Given the description of an element on the screen output the (x, y) to click on. 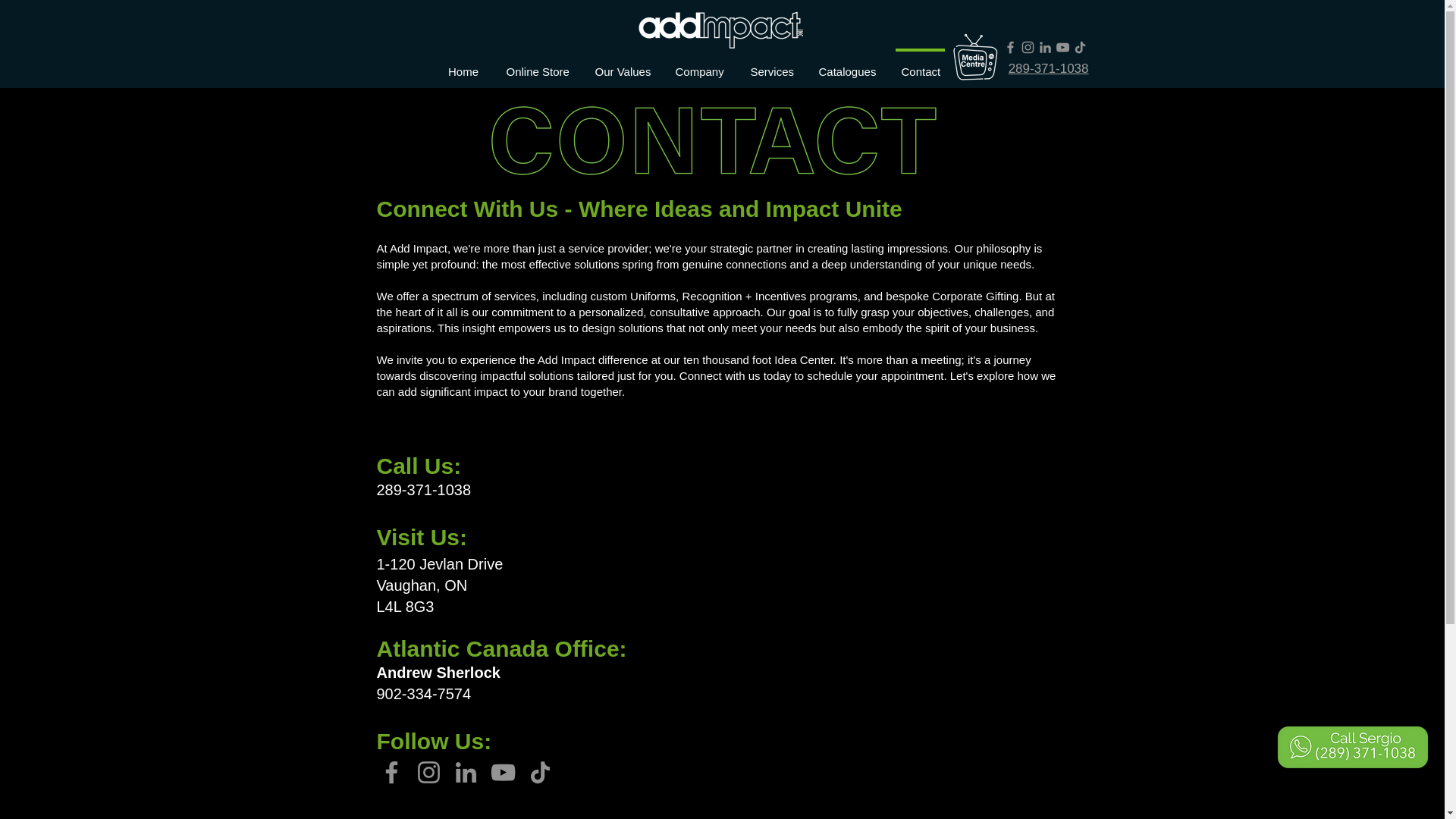
Our Values (620, 64)
289-371-1038 (1049, 68)
Call button 3.png (1352, 747)
Contact (919, 64)
Catalogues (846, 64)
Home (462, 64)
Services (770, 64)
Company (698, 64)
Online Store (536, 64)
